Given the description of an element on the screen output the (x, y) to click on. 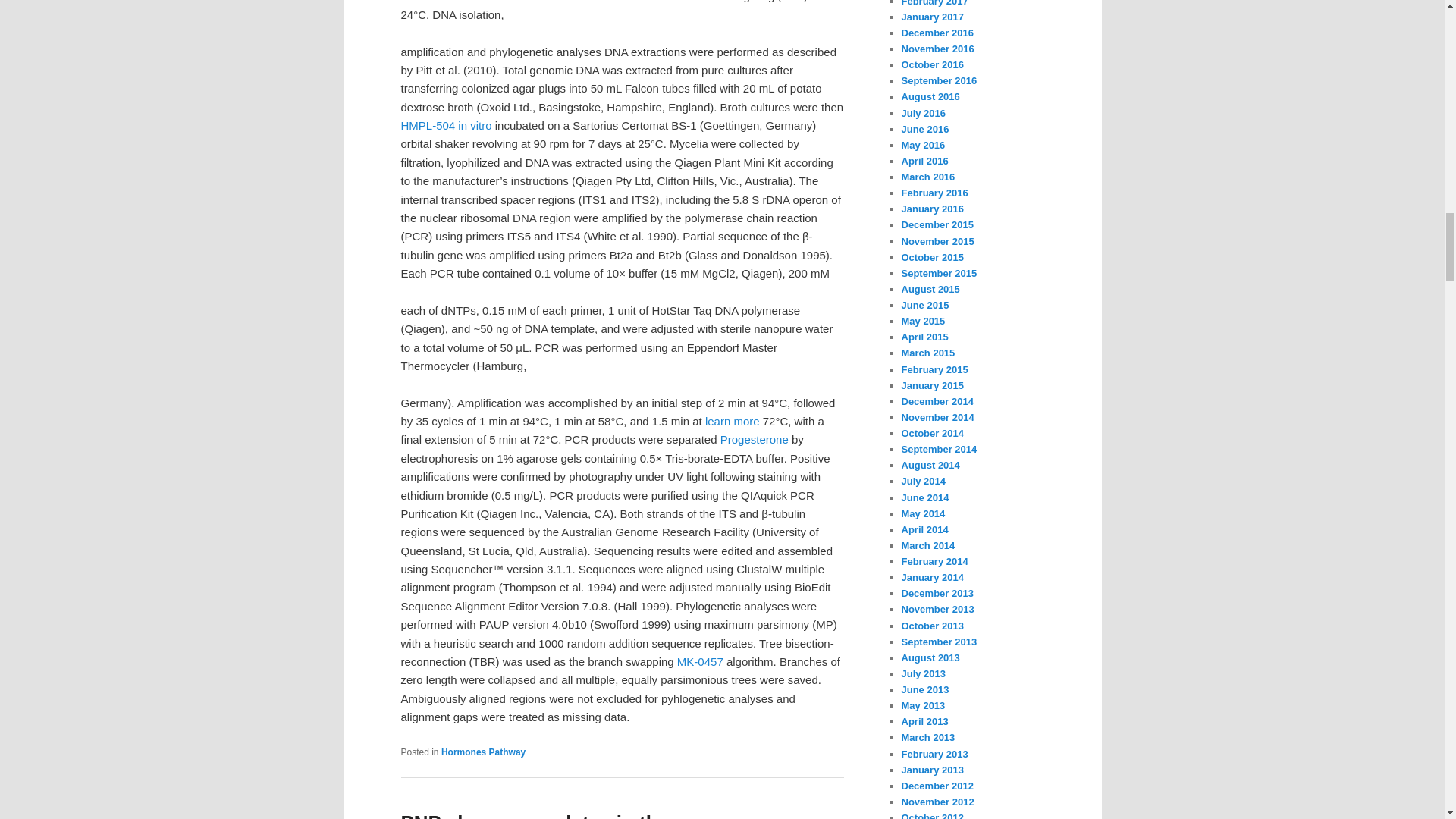
View all posts in Hormones Pathway (483, 751)
Hormones Pathway (483, 751)
learn more (732, 420)
Progesterone (754, 439)
HMPL-504 in vitro (446, 124)
MK-0457 (700, 661)
PNP also accumulates in the (534, 815)
Permalink to PNP also accumulates in the  (534, 815)
